Given the description of an element on the screen output the (x, y) to click on. 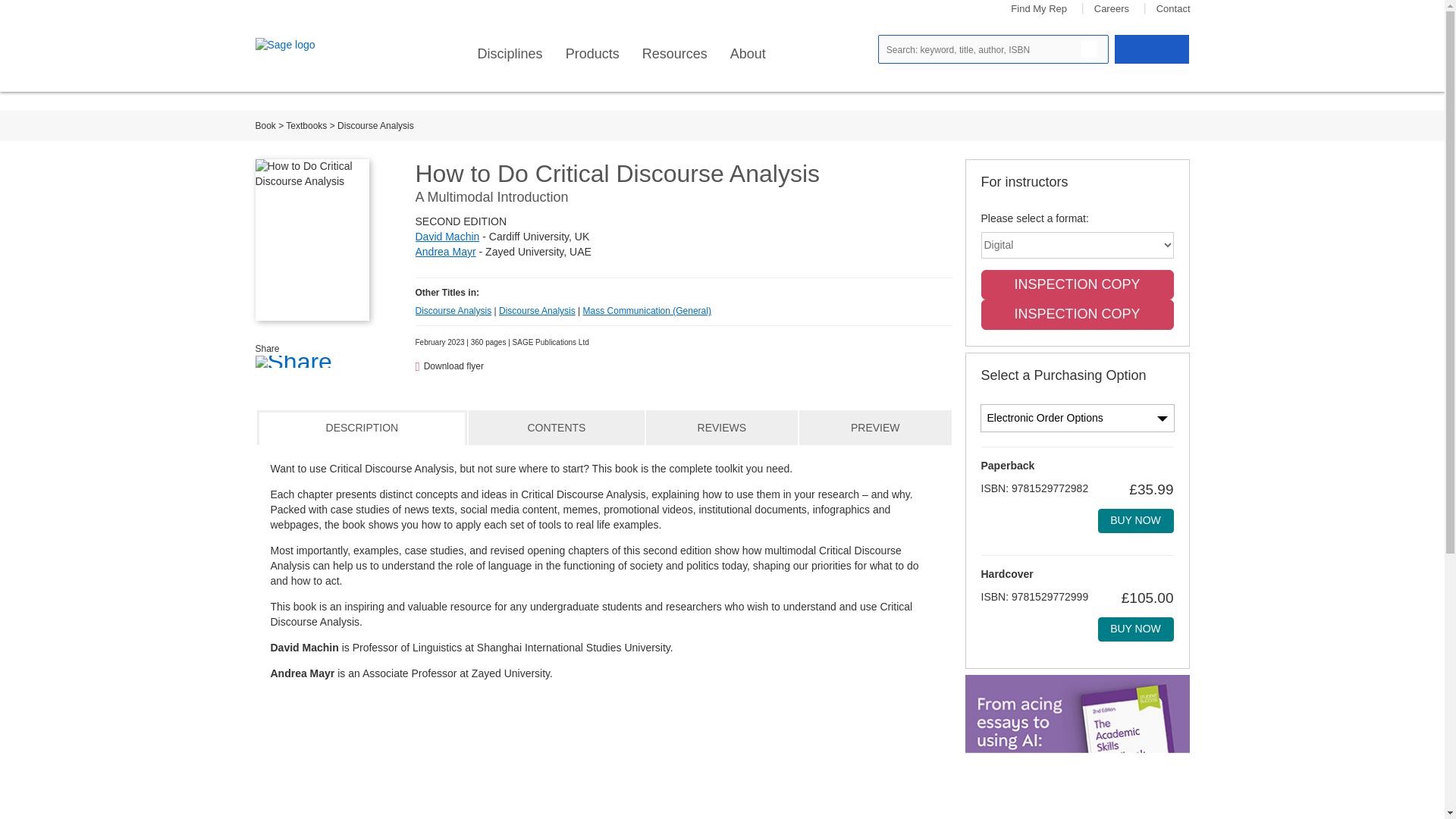
Buy now (1135, 520)
Disciplines (509, 53)
Sage logo: link back to homepage (309, 45)
Inspection Copy (1077, 314)
Careers (1111, 8)
Buy now (1135, 629)
Contact (1173, 8)
Find My Rep (1038, 8)
Inspection Copy (1077, 285)
